Given the description of an element on the screen output the (x, y) to click on. 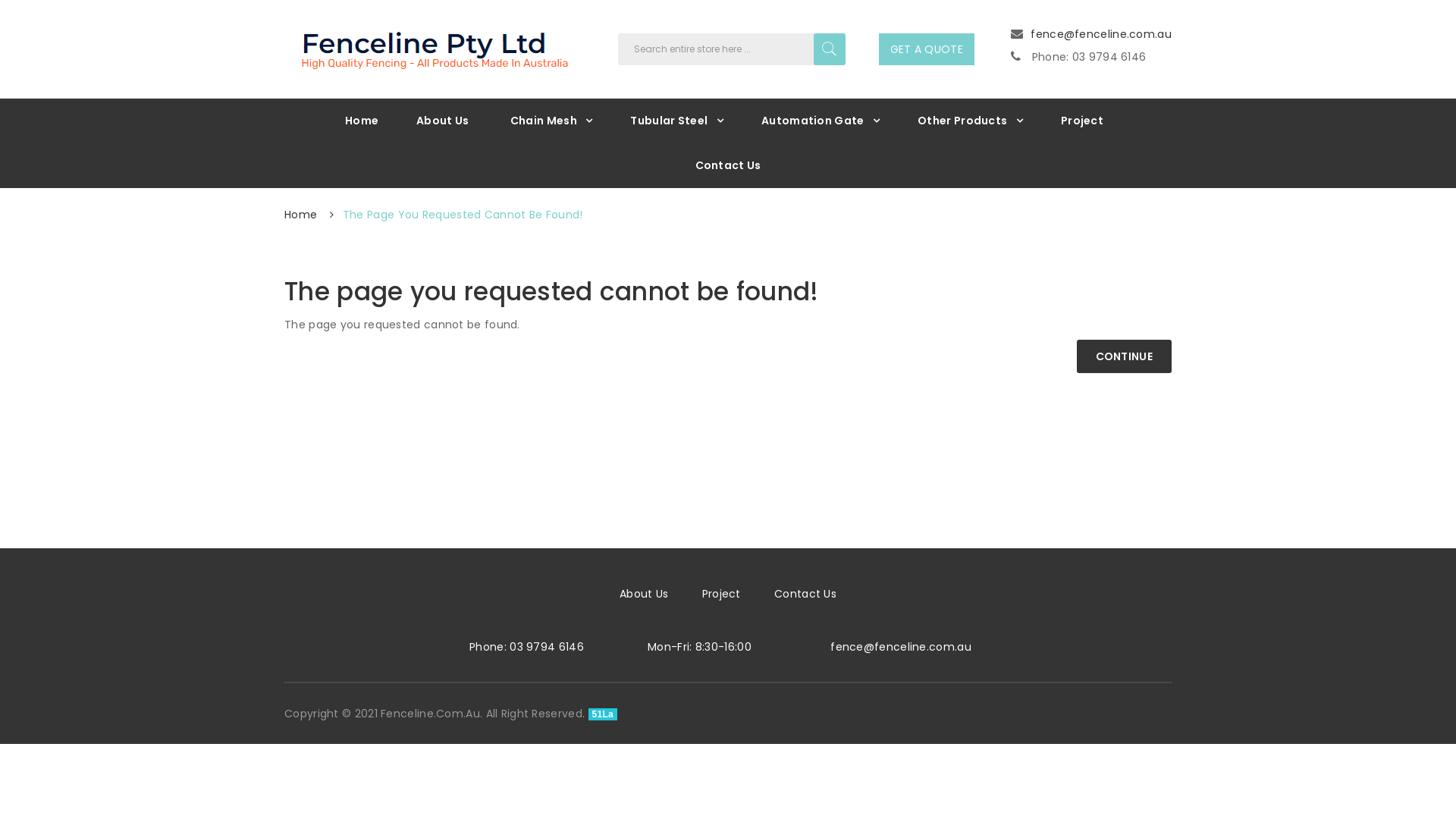
Home Element type: text (361, 120)
The Page You Requested Cannot Be Found! Element type: text (462, 214)
Tubular Steel Element type: text (676, 120)
Contact Us Element type: text (727, 165)
About Us Element type: text (442, 120)
fence@fenceline.com.au Element type: text (900, 646)
Chain Mesh Element type: text (551, 120)
Other Products Element type: text (970, 120)
Fenceline.com.au Element type: hover (431, 47)
Project Element type: text (721, 593)
Project Element type: text (1081, 120)
fence@fenceline.com.au Element type: text (1100, 33)
Contact Us Element type: text (805, 593)
CONTINUE Element type: text (1123, 356)
Home Element type: text (300, 214)
About Us Element type: text (643, 593)
51La Element type: text (603, 713)
GET A QUOTE Element type: text (926, 49)
Automation Gate Element type: text (820, 120)
